Given the description of an element on the screen output the (x, y) to click on. 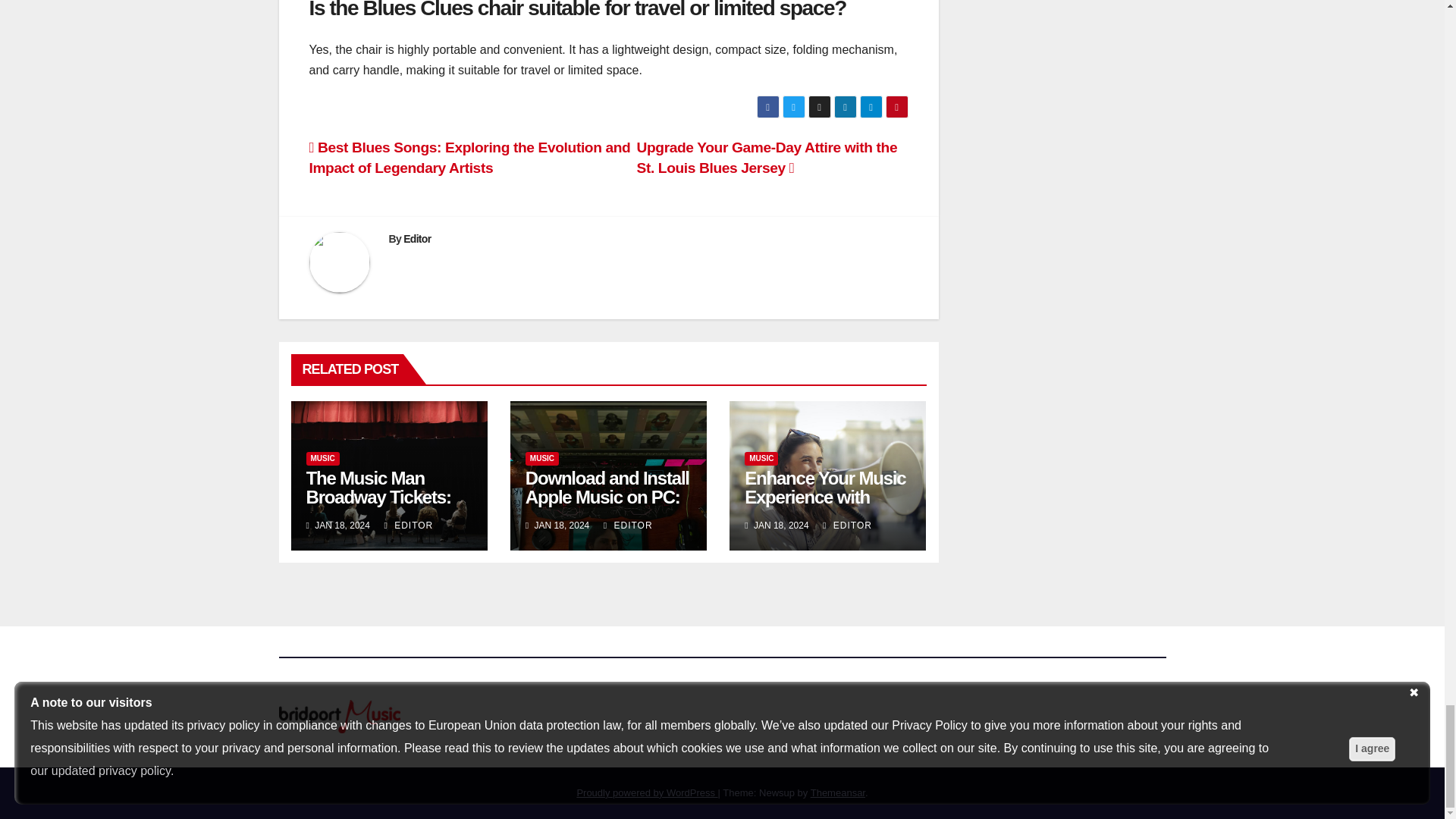
EDITOR (847, 525)
MUSIC (760, 459)
Upgrade Your Game-Day Attire with the St. Louis Blues Jersey (767, 157)
MUSIC (322, 459)
Editor (416, 238)
Proudly powered by WordPress (646, 792)
MUSIC (542, 459)
EDITOR (408, 525)
EDITOR (628, 525)
Download and Install Apple Music on PC: Step-by-Step Guide (606, 496)
